Given the description of an element on the screen output the (x, y) to click on. 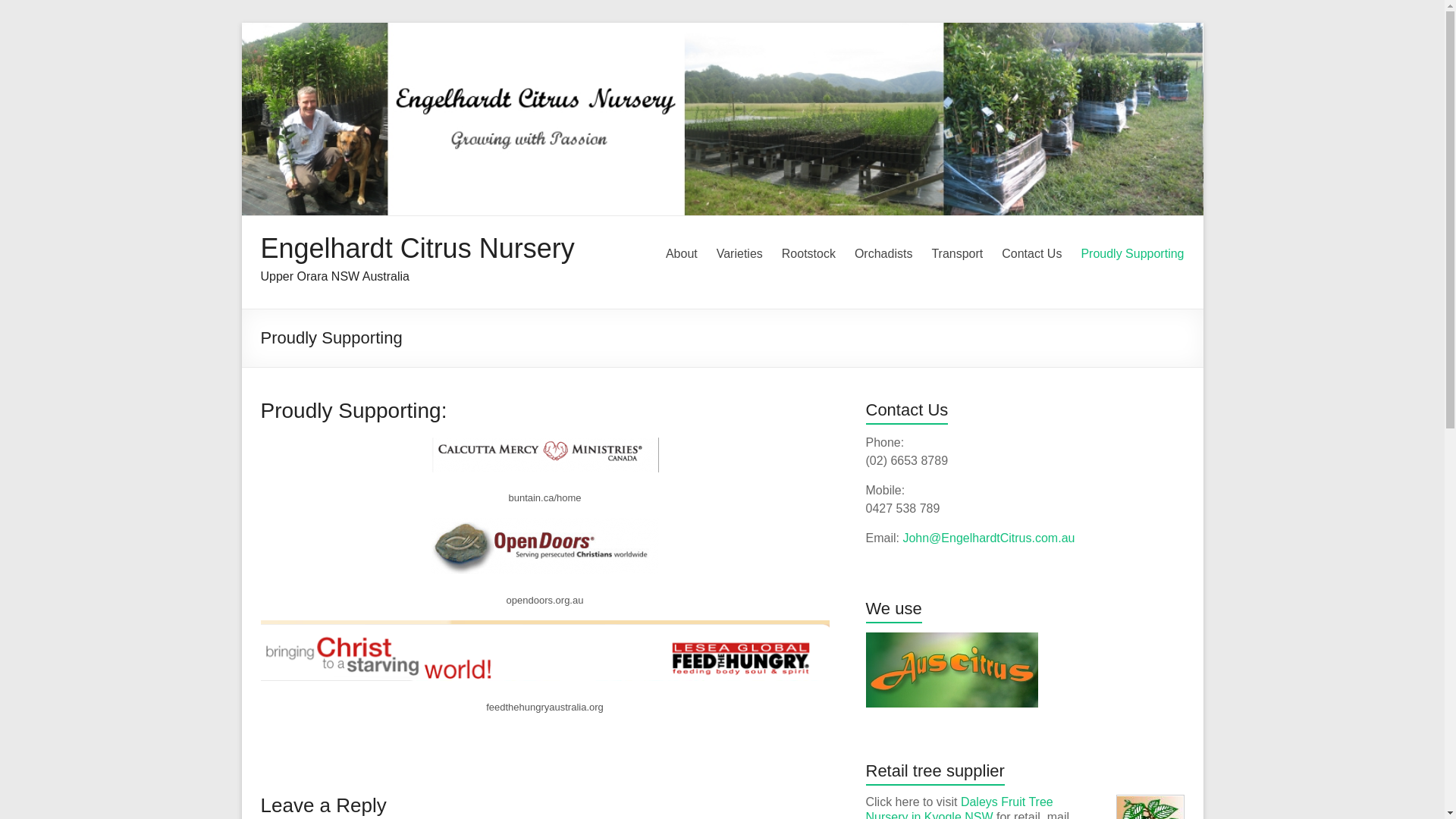
Transport Element type: text (956, 253)
About Element type: text (681, 253)
Orchadists Element type: text (883, 253)
Engelhardt Citrus Nursery Element type: text (417, 247)
Skip to content Element type: text (241, 21)
Rootstock Element type: text (808, 253)
Contact Us Element type: text (1031, 253)
buy-Auscitrus-and-Engelhardt-Citrus-Farm-Trees Element type: hover (952, 669)
Proudly Supporting Element type: text (1131, 253)
John@EngelhardtCitrus.com.au Element type: text (988, 537)
Varieties Element type: text (739, 253)
